Given the description of an element on the screen output the (x, y) to click on. 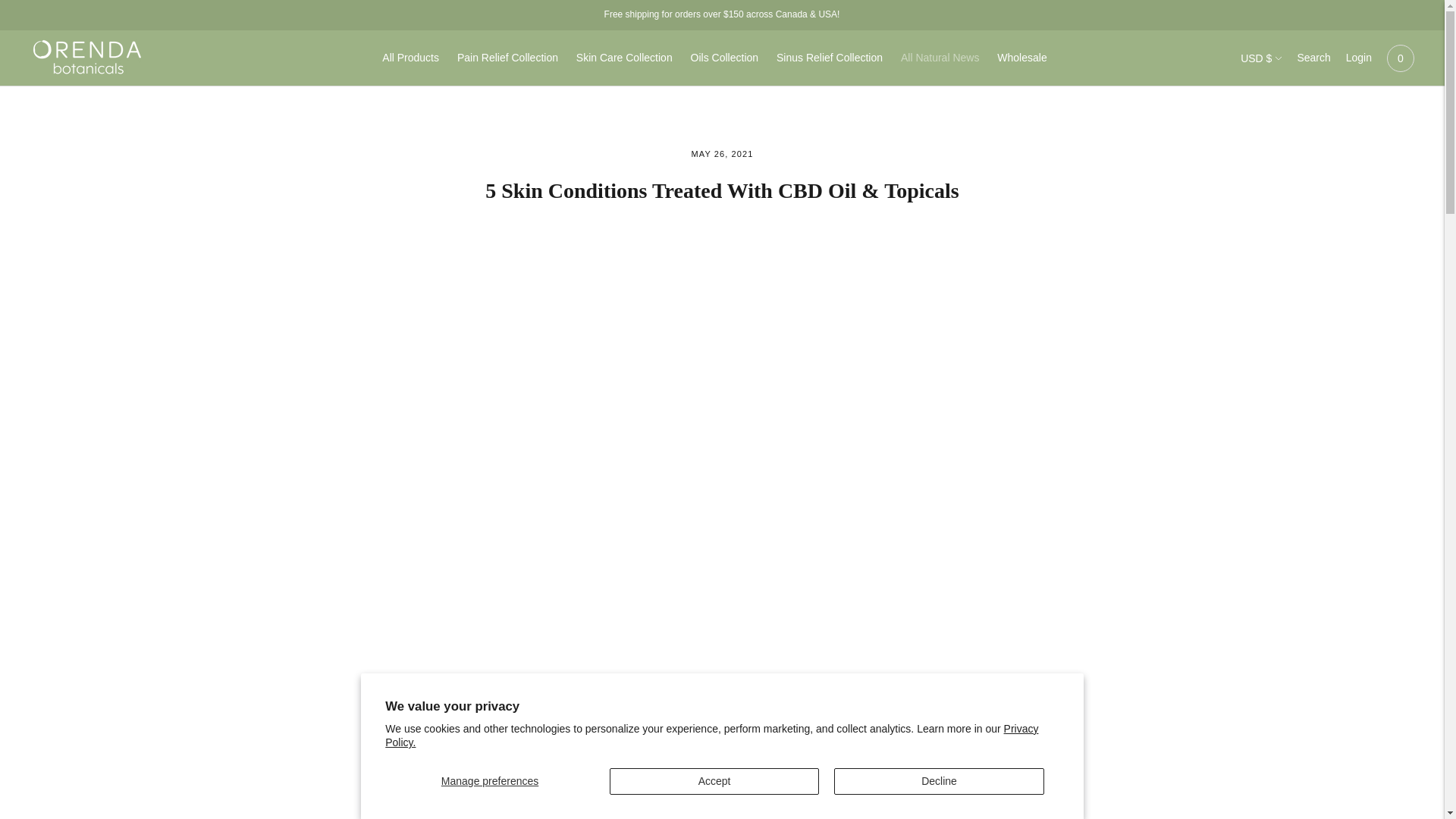
All Products (410, 57)
Accept (714, 781)
Privacy Policy. (711, 735)
Manage preferences (489, 781)
Oils Collection (724, 57)
Wholesale (1021, 57)
Sinus Relief Collection (829, 57)
All Natural News (939, 57)
Pain Relief Collection (507, 57)
Skin Care Collection (624, 57)
